Given the description of an element on the screen output the (x, y) to click on. 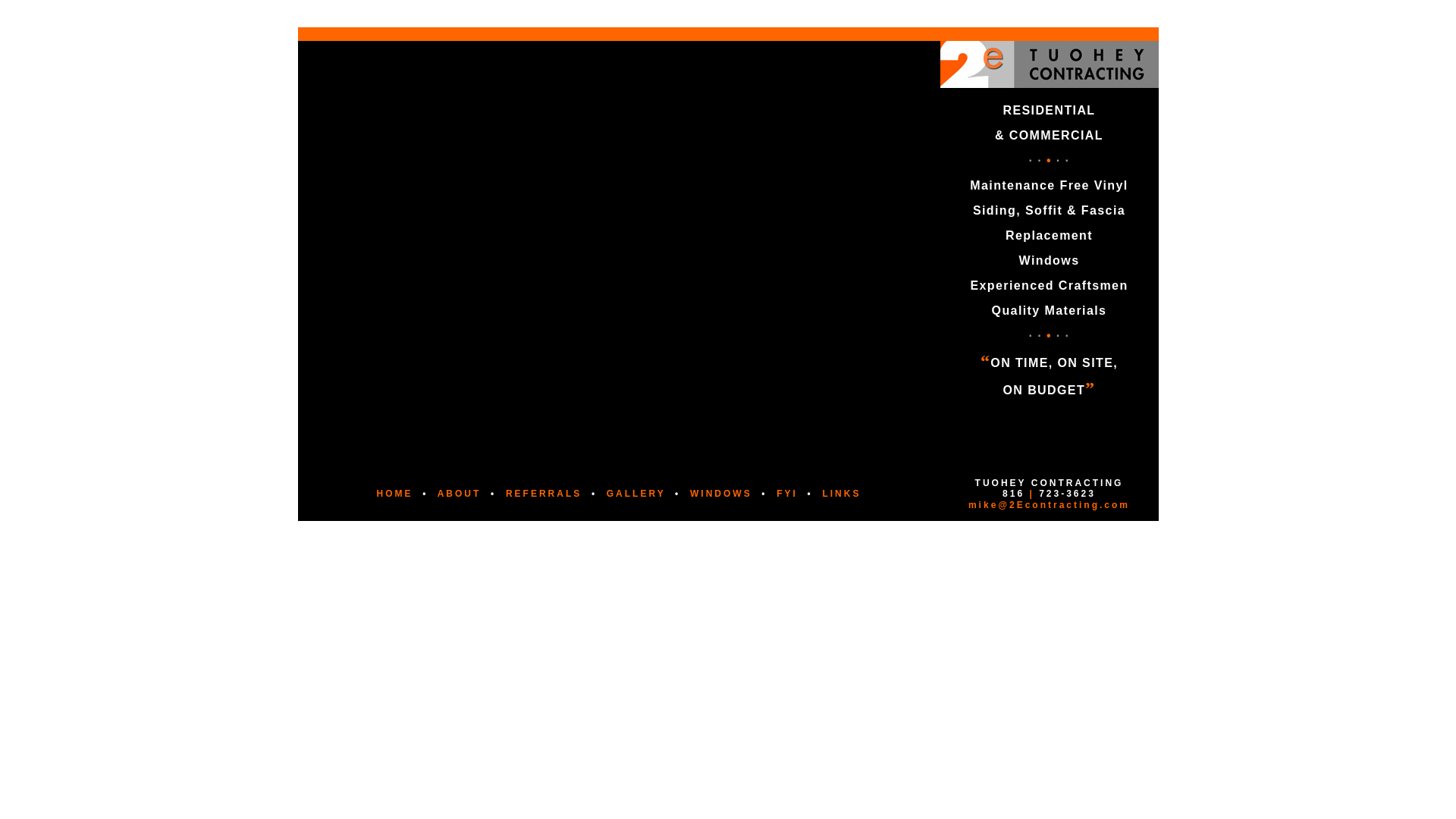
HOME Element type: text (394, 493)
REFERRALS Element type: text (543, 493)
LINKS Element type: text (841, 493)
GALLERY Element type: text (635, 493)
WINDOWS Element type: text (721, 493)
ABOUT Element type: text (459, 493)
FYI Element type: text (786, 493)
mike@2Econtracting.com Element type: text (1048, 504)
